Given the description of an element on the screen output the (x, y) to click on. 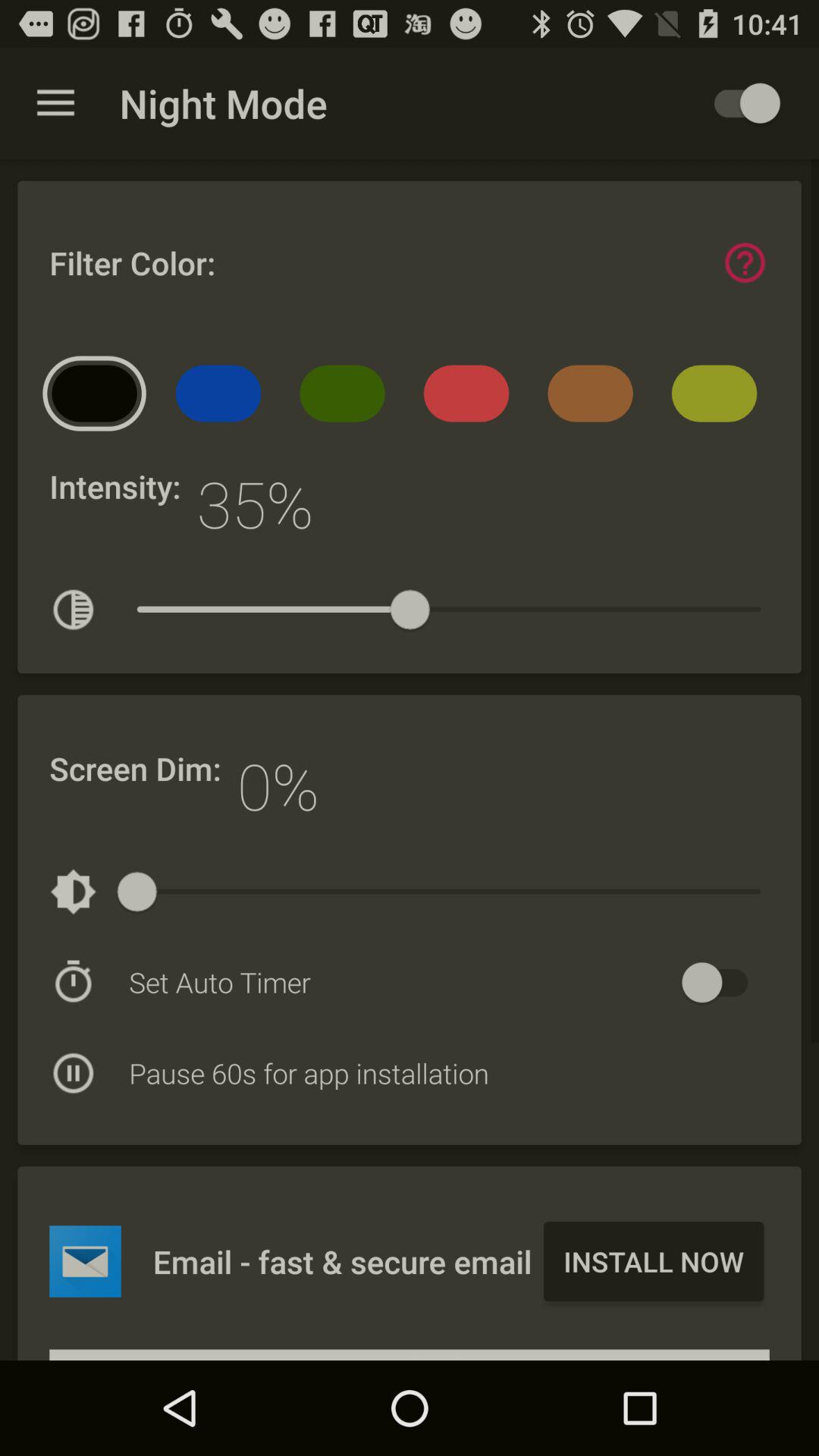
select toggle (739, 103)
